Given the description of an element on the screen output the (x, y) to click on. 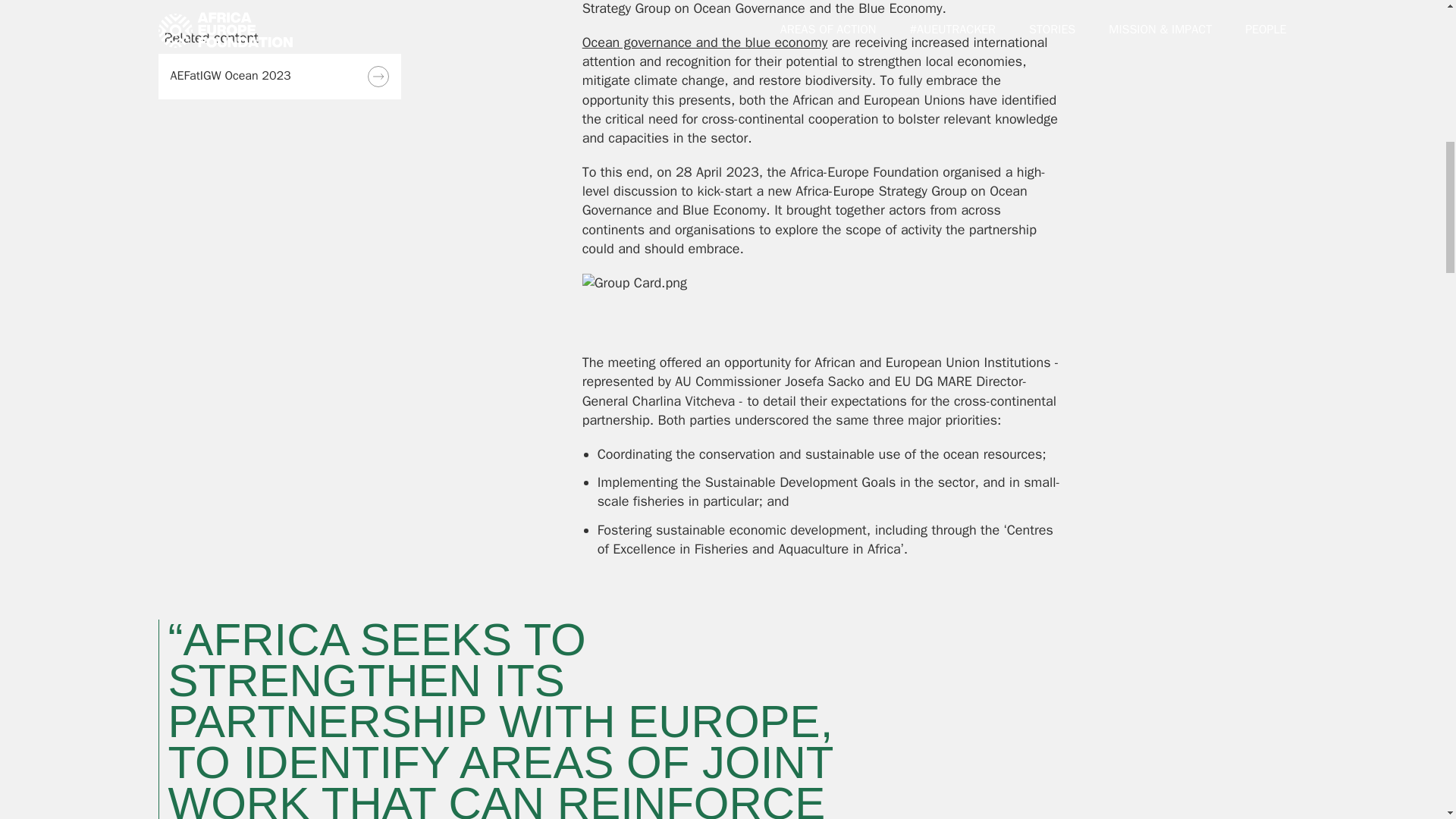
AEFatIGW Ocean 2023 (278, 76)
Ocean governance and the blue economy (705, 42)
